Given the description of an element on the screen output the (x, y) to click on. 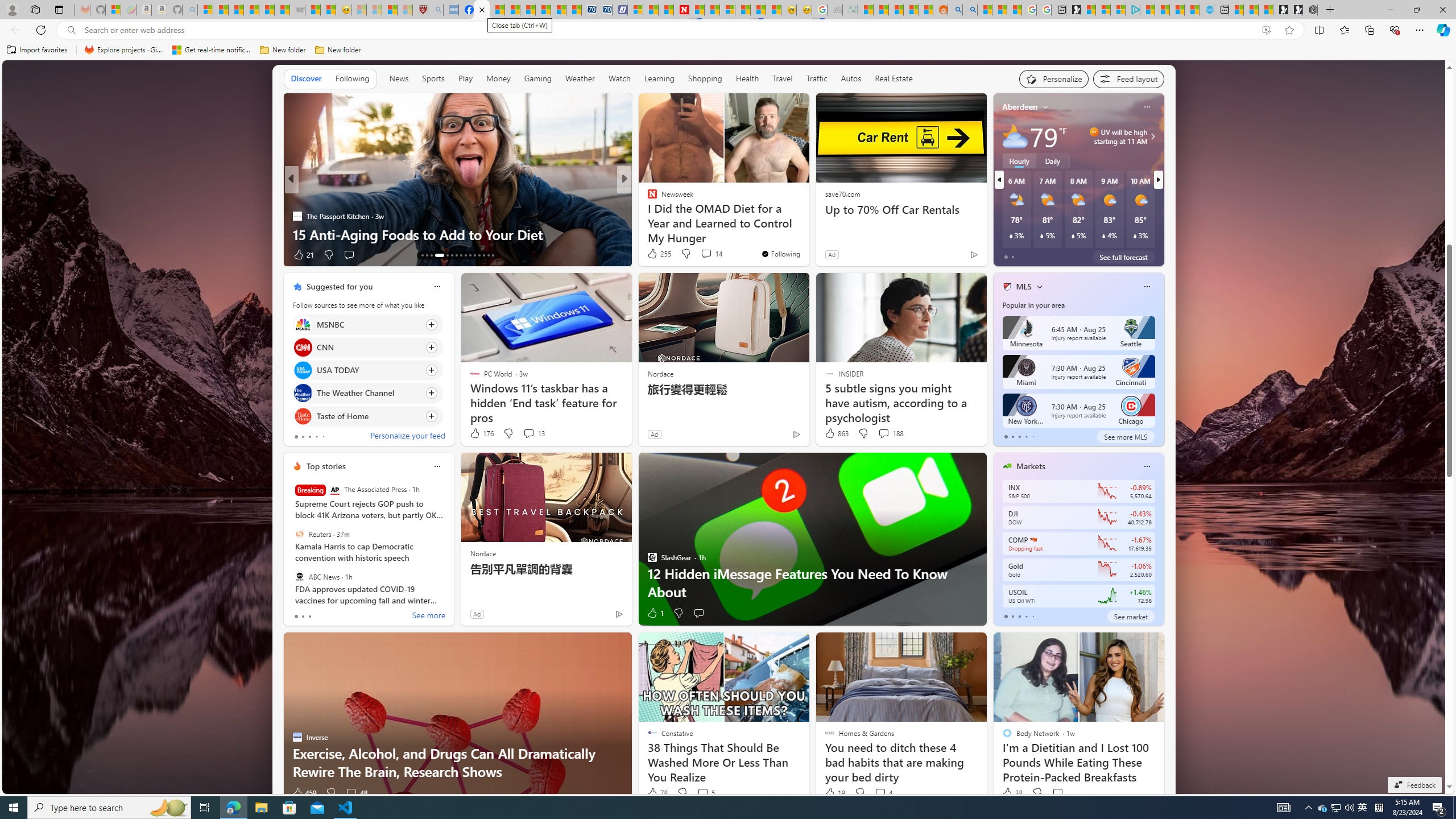
Taste of Home (302, 416)
268 Like (654, 254)
View comments 114 Comment (703, 254)
tab-2 (1019, 616)
Daily (1052, 160)
tab-1 (1012, 616)
